Given the description of an element on the screen output the (x, y) to click on. 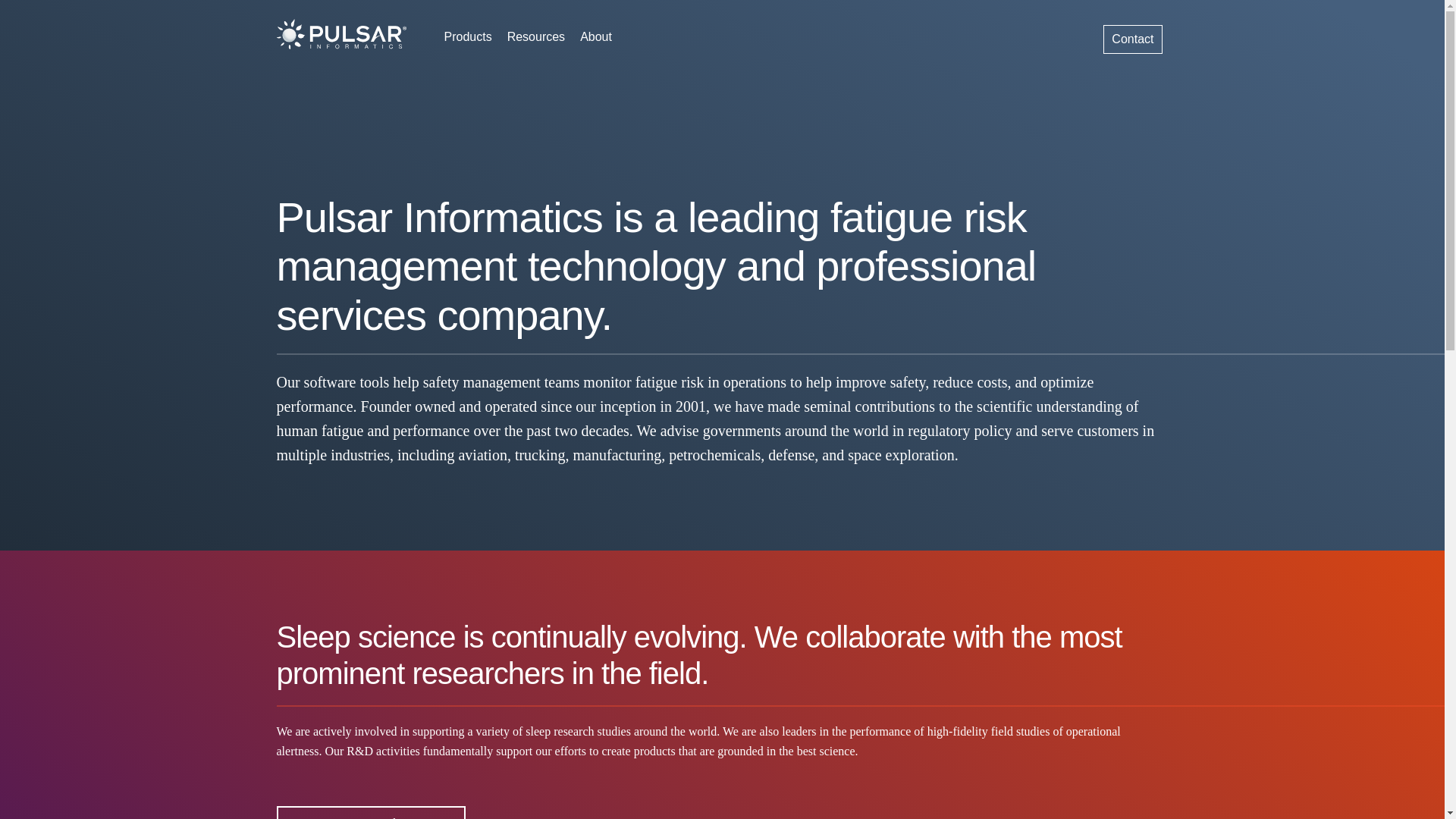
Meet our team and partners (370, 812)
Skip to main content (685, 1)
Contact (1132, 39)
